Given the description of an element on the screen output the (x, y) to click on. 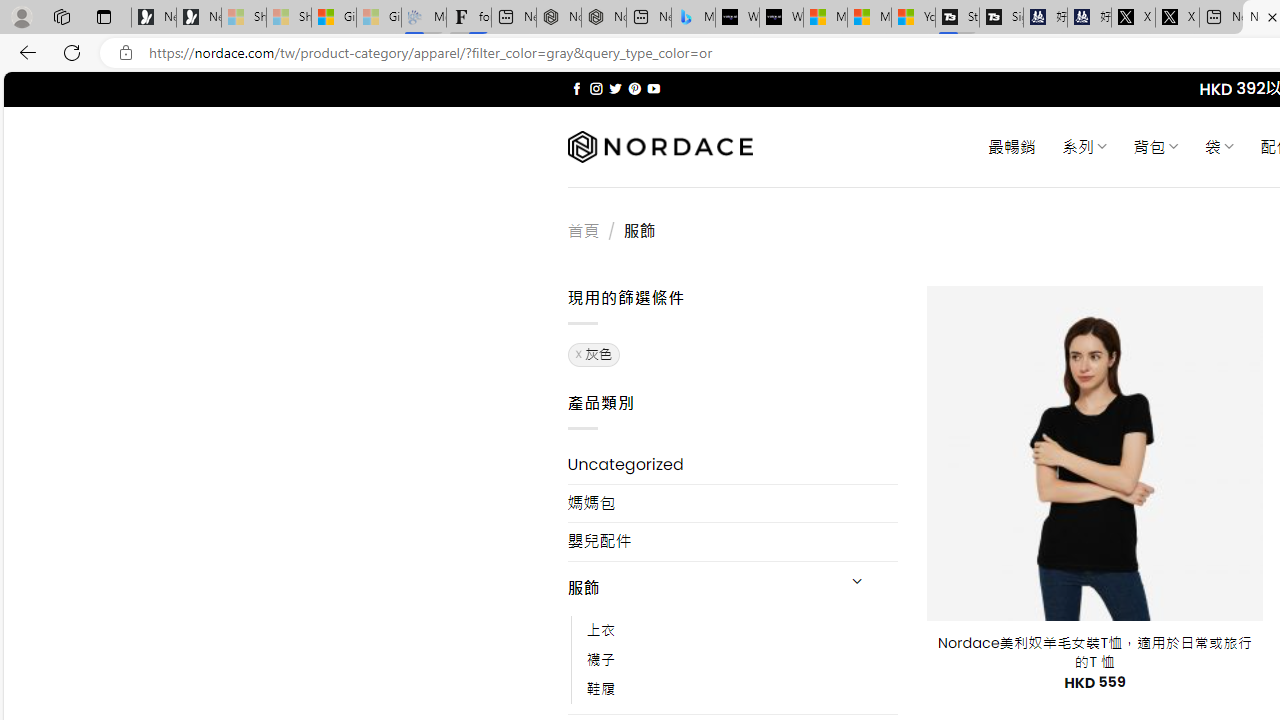
Follow on Pinterest (634, 88)
What's the best AI voice generator? - voice.ai (781, 17)
Newsletter Sign Up (198, 17)
Follow on Facebook (576, 88)
Uncategorized (732, 463)
